Given the description of an element on the screen output the (x, y) to click on. 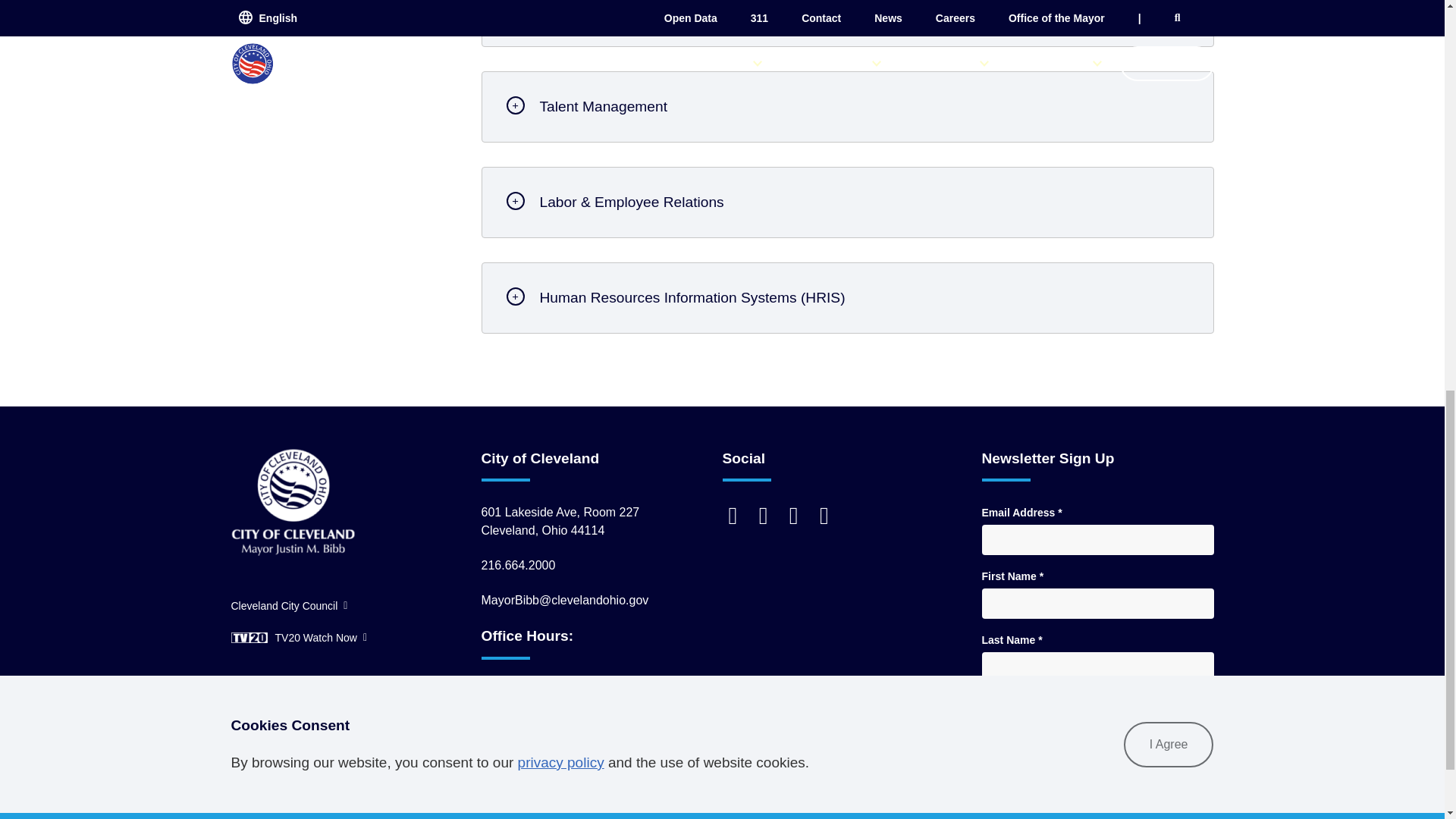
Subscribe (1167, 725)
